Given the description of an element on the screen output the (x, y) to click on. 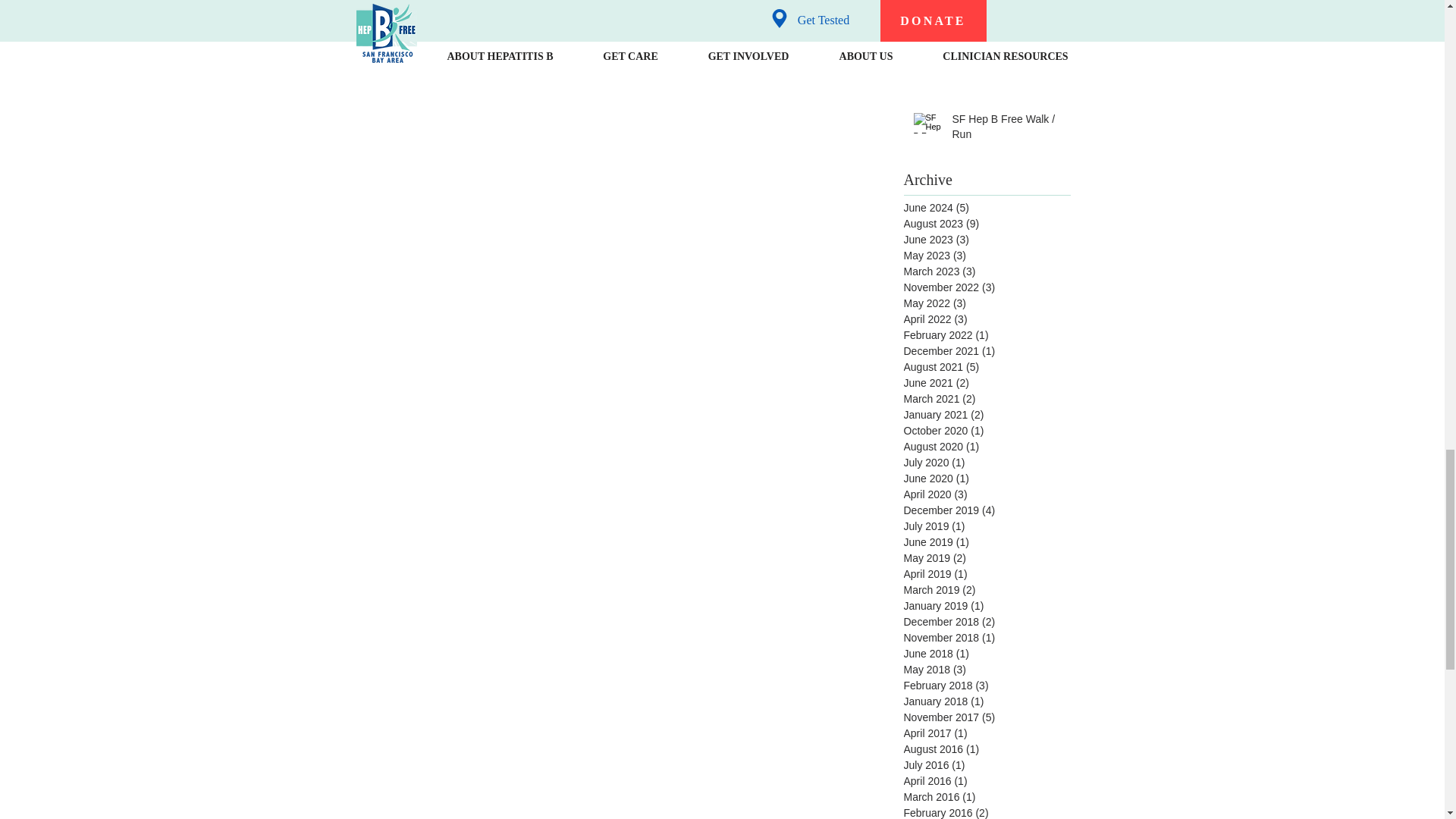
Art and Healing Walk Festival (1006, 45)
